Given the description of an element on the screen output the (x, y) to click on. 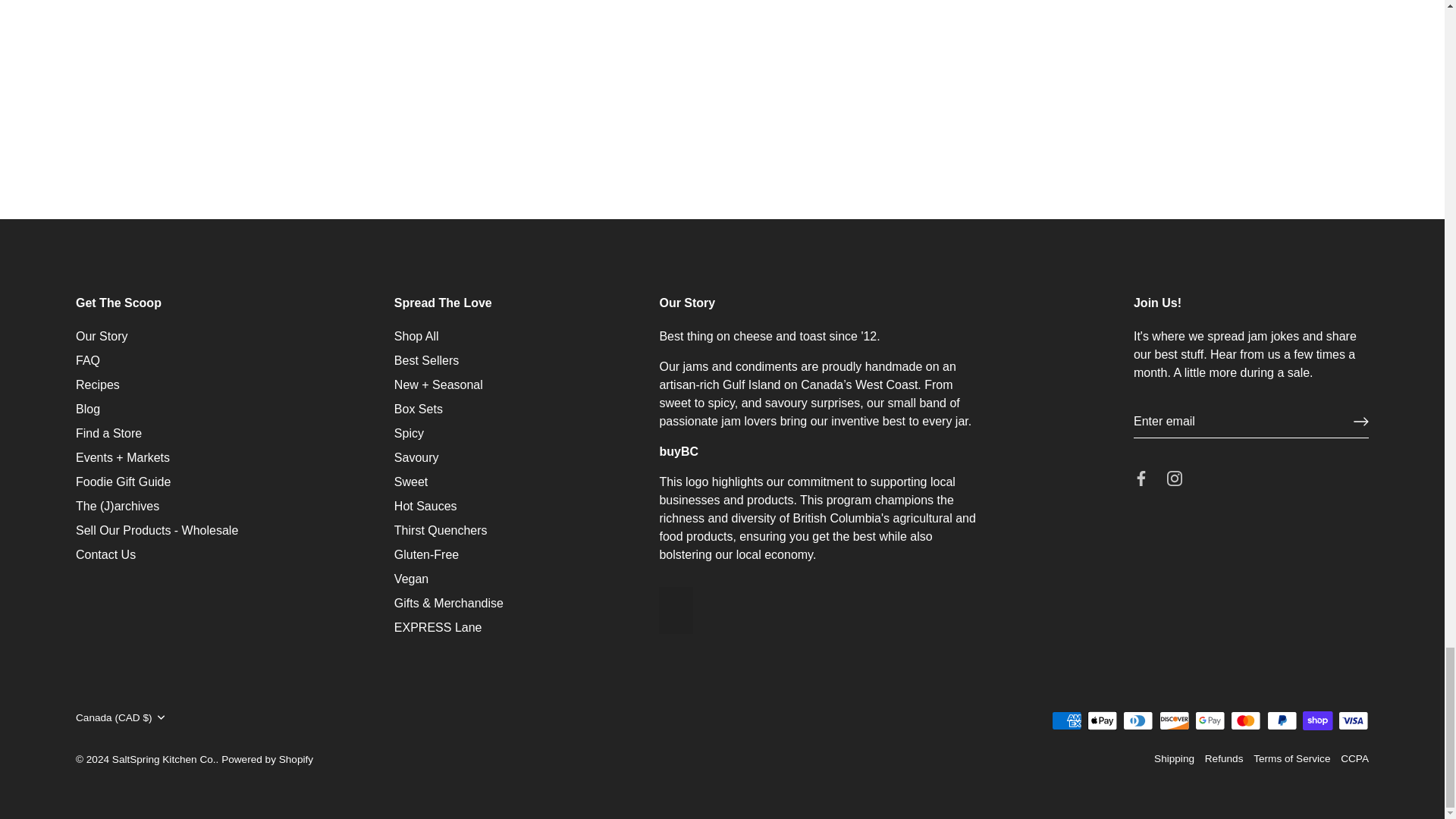
Apple Pay (1101, 720)
Shop Pay (1317, 720)
RIGHT ARROW LONG (1361, 421)
Discover (1173, 720)
Instagram (1174, 478)
Visa (1353, 720)
Mastercard (1245, 720)
Google Pay (1209, 720)
PayPal (1281, 720)
Diners Club (1137, 720)
